Given the description of an element on the screen output the (x, y) to click on. 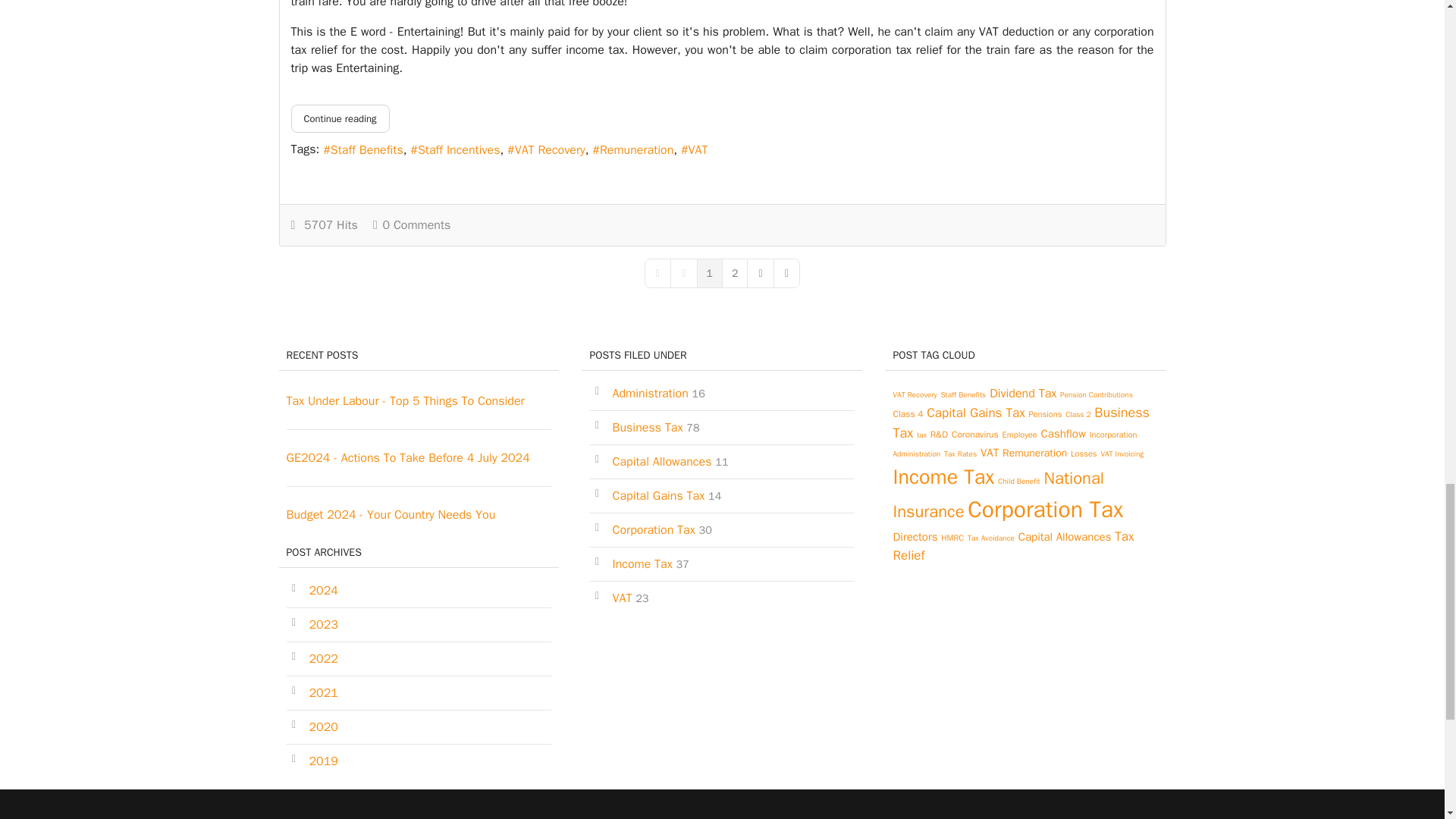
Budget 2024 - Your Country Needs You (391, 514)
Tax Under Labour - Top 5 Things To Consider (405, 400)
GE2024 - Actions To Take Before 4 July 2024 (407, 458)
